Given the description of an element on the screen output the (x, y) to click on. 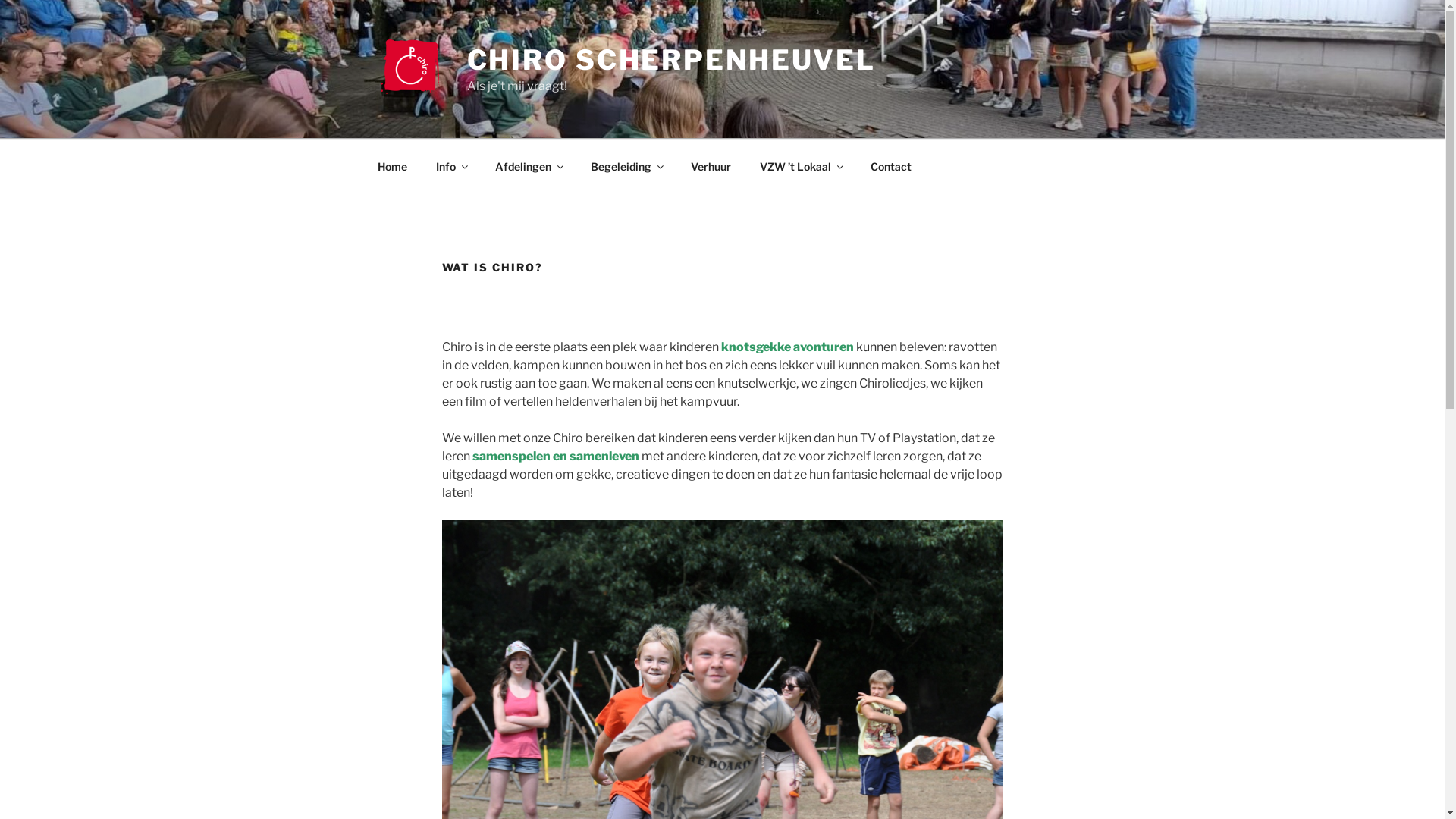
Home Element type: text (392, 165)
Info Element type: text (451, 165)
Afdelingen Element type: text (528, 165)
Verhuur Element type: text (710, 165)
Contact Element type: text (890, 165)
CHIRO SCHERPENHEUVEL Element type: text (671, 59)
Begeleiding Element type: text (626, 165)
